Given the description of an element on the screen output the (x, y) to click on. 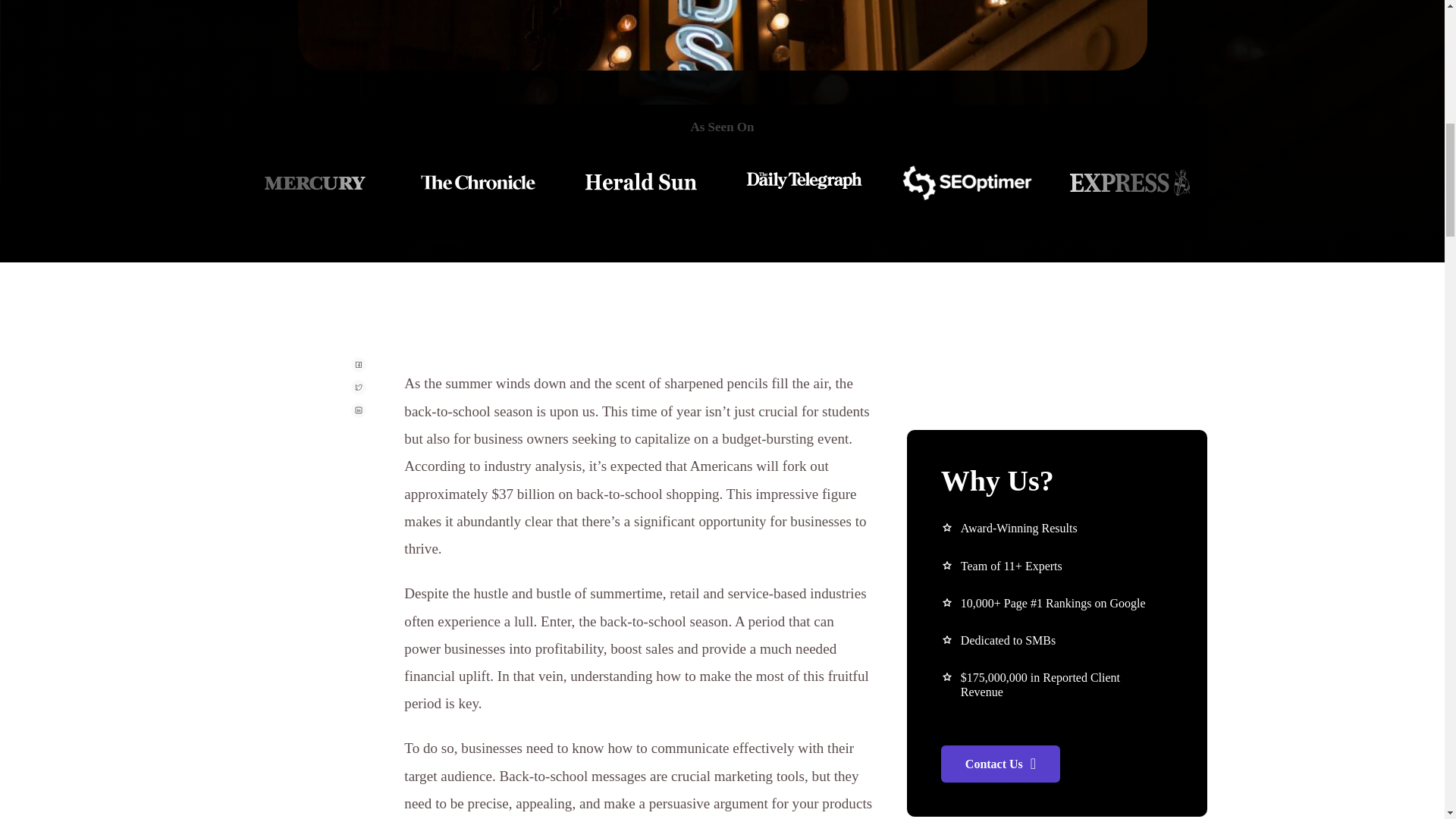
Contact Us (999, 763)
